Given the description of an element on the screen output the (x, y) to click on. 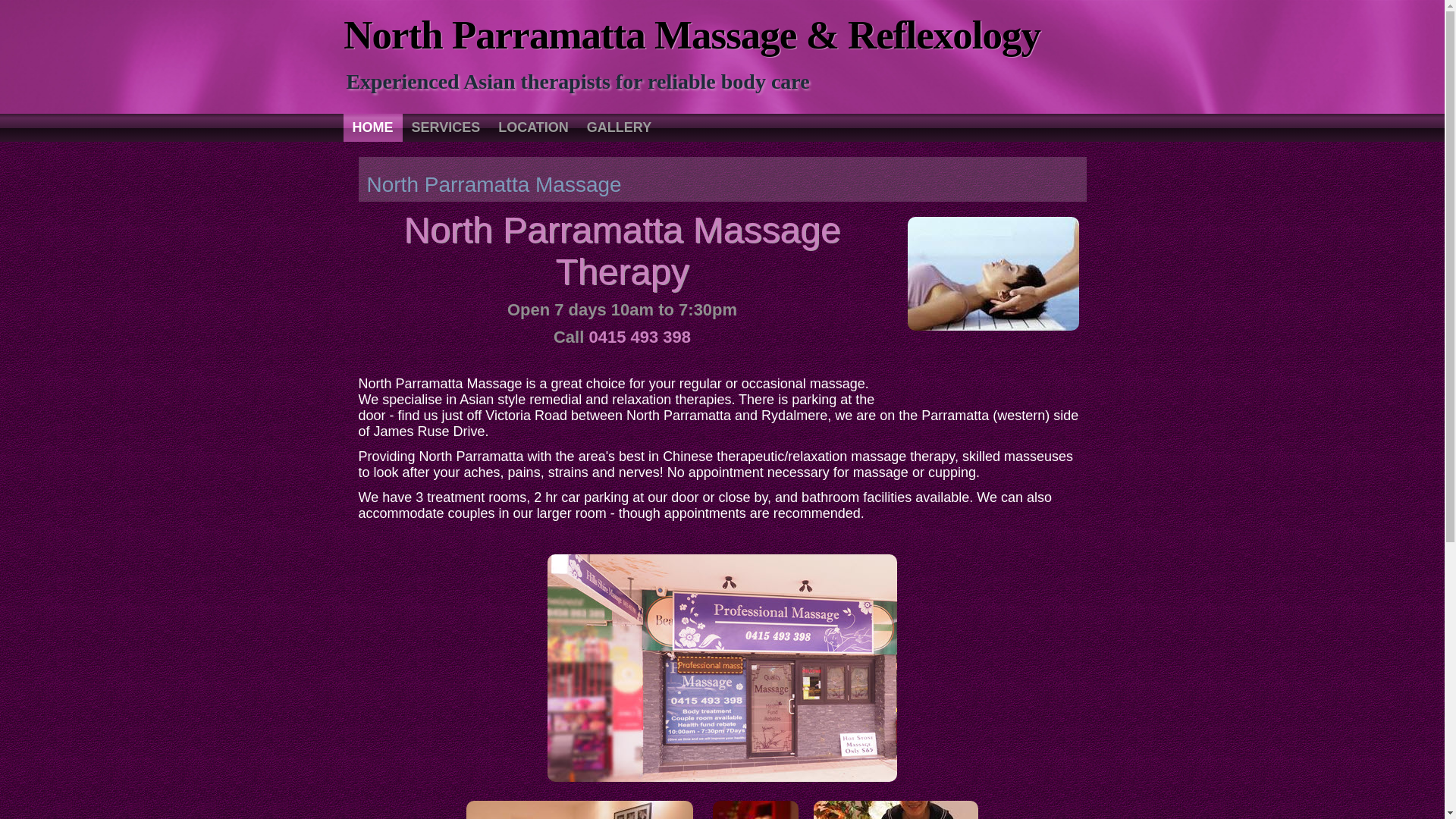
0415 493 398 Element type: text (639, 346)
North Parramatta Massage - Remedial Therapy Element type: hover (992, 273)
North Parramatta Massage & Reflexology Element type: text (691, 34)
North Parramatta Massage Element type: text (494, 184)
LOCATION Element type: text (533, 127)
Hills Shire Massage Element type: hover (722, 667)
GALLERY Element type: text (618, 127)
SERVICES Element type: text (445, 127)
HOME Element type: text (371, 127)
